Given the description of an element on the screen output the (x, y) to click on. 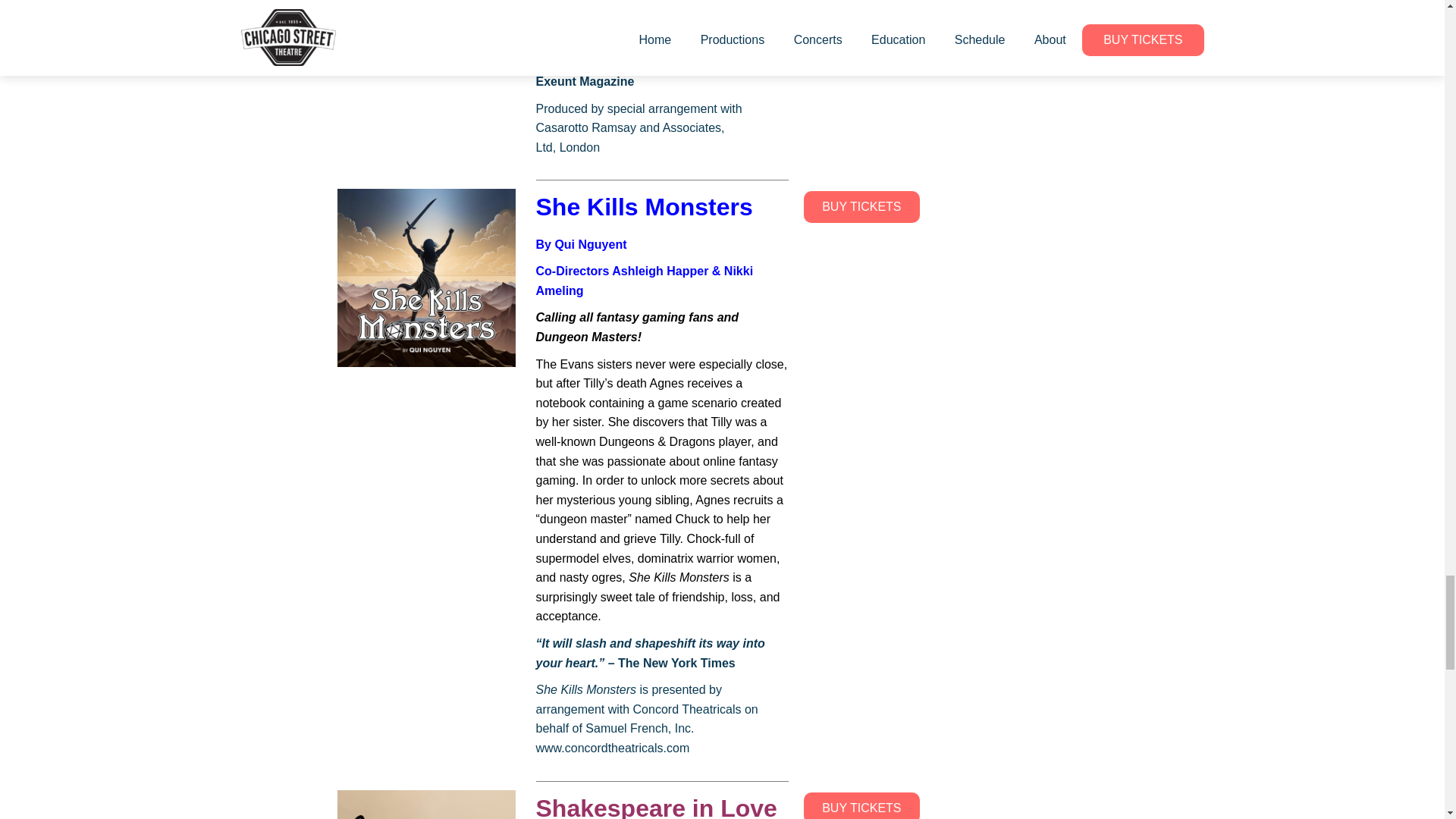
BUY TICKETS (860, 805)
BUY TICKETS (860, 206)
